Given the description of an element on the screen output the (x, y) to click on. 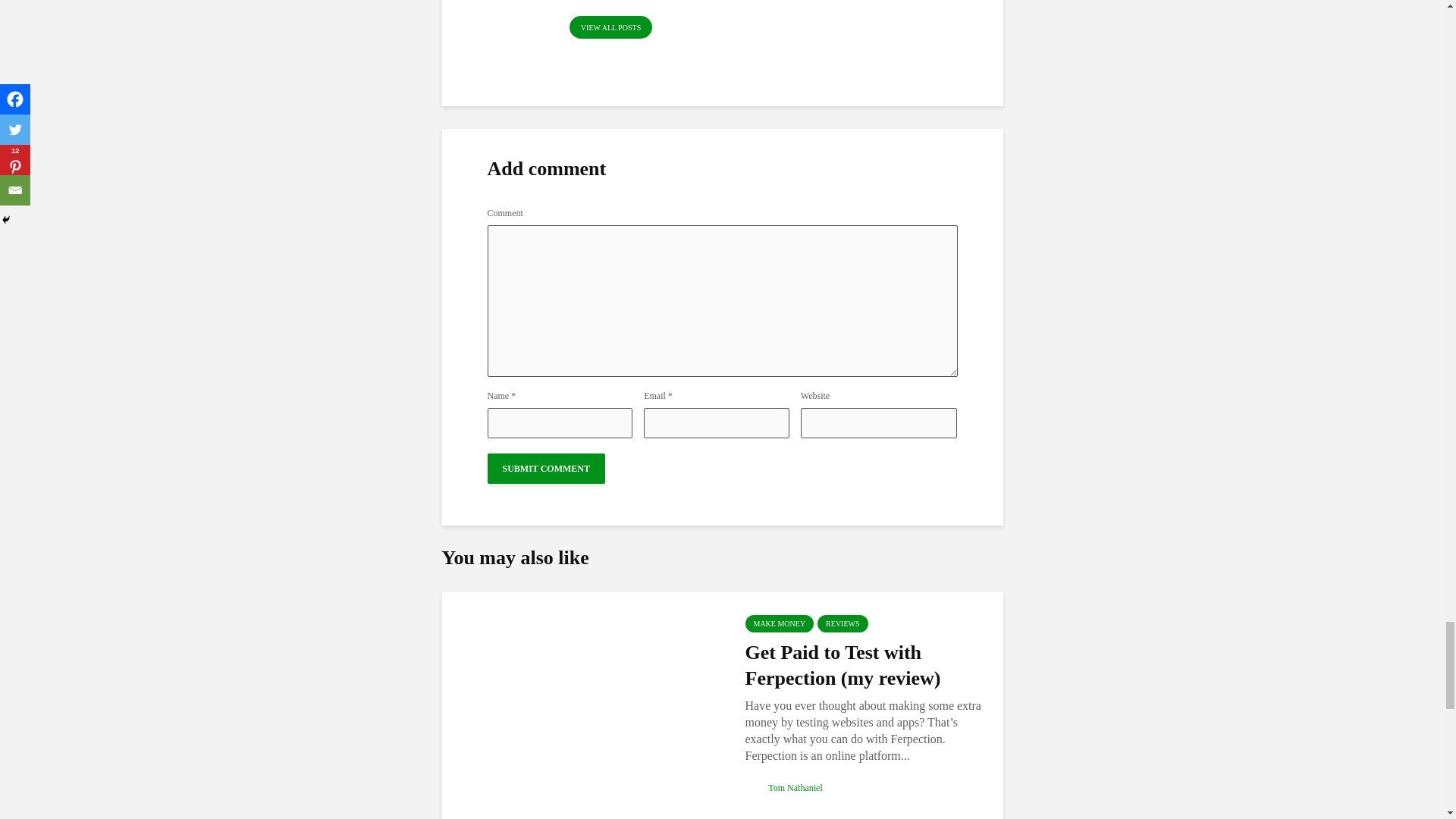
Submit Comment (545, 468)
